Given the description of an element on the screen output the (x, y) to click on. 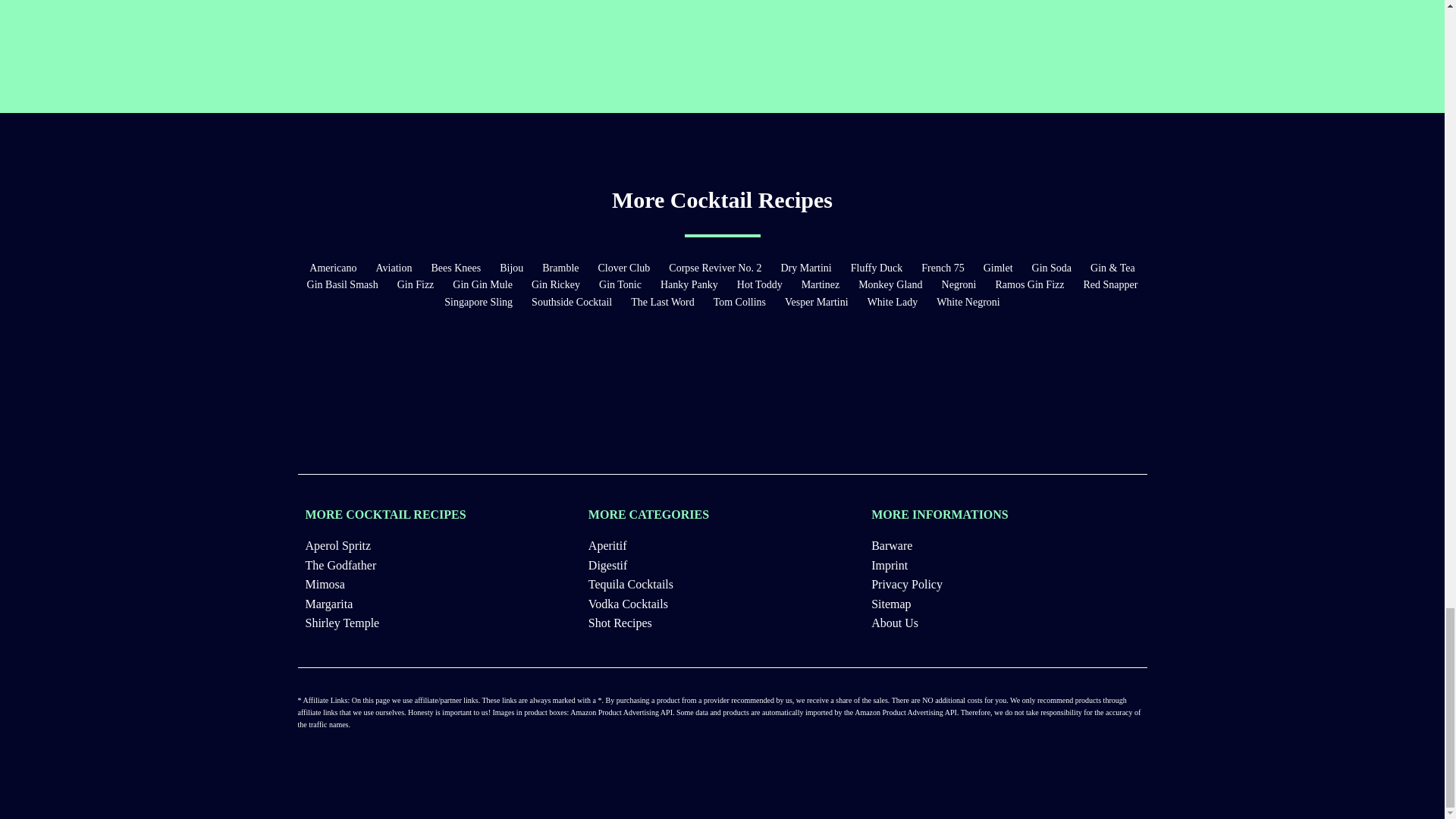
Aviation (393, 268)
Americano (332, 268)
